Given the description of an element on the screen output the (x, y) to click on. 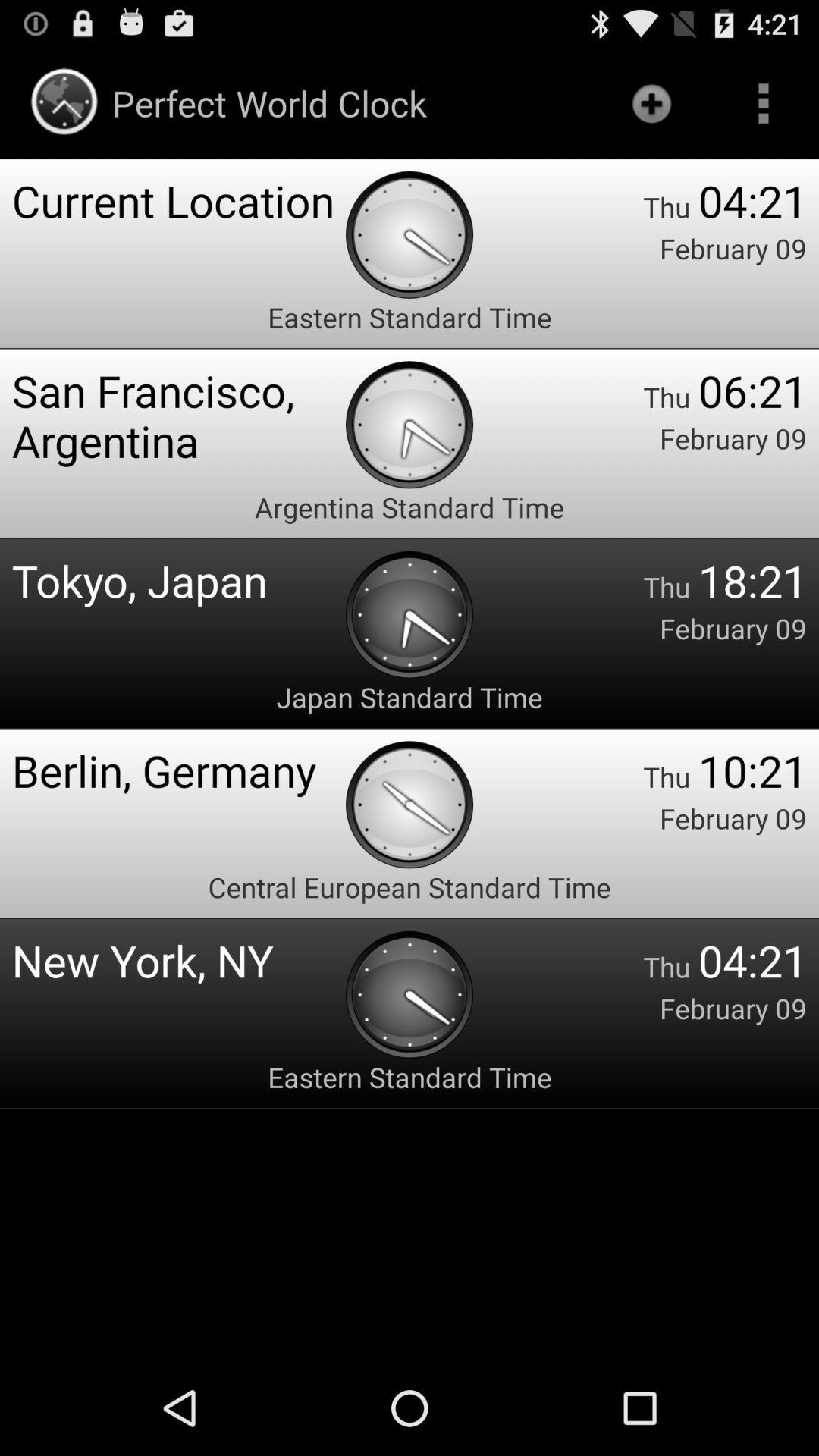
choose the san francisco, argentina app (178, 415)
